Given the description of an element on the screen output the (x, y) to click on. 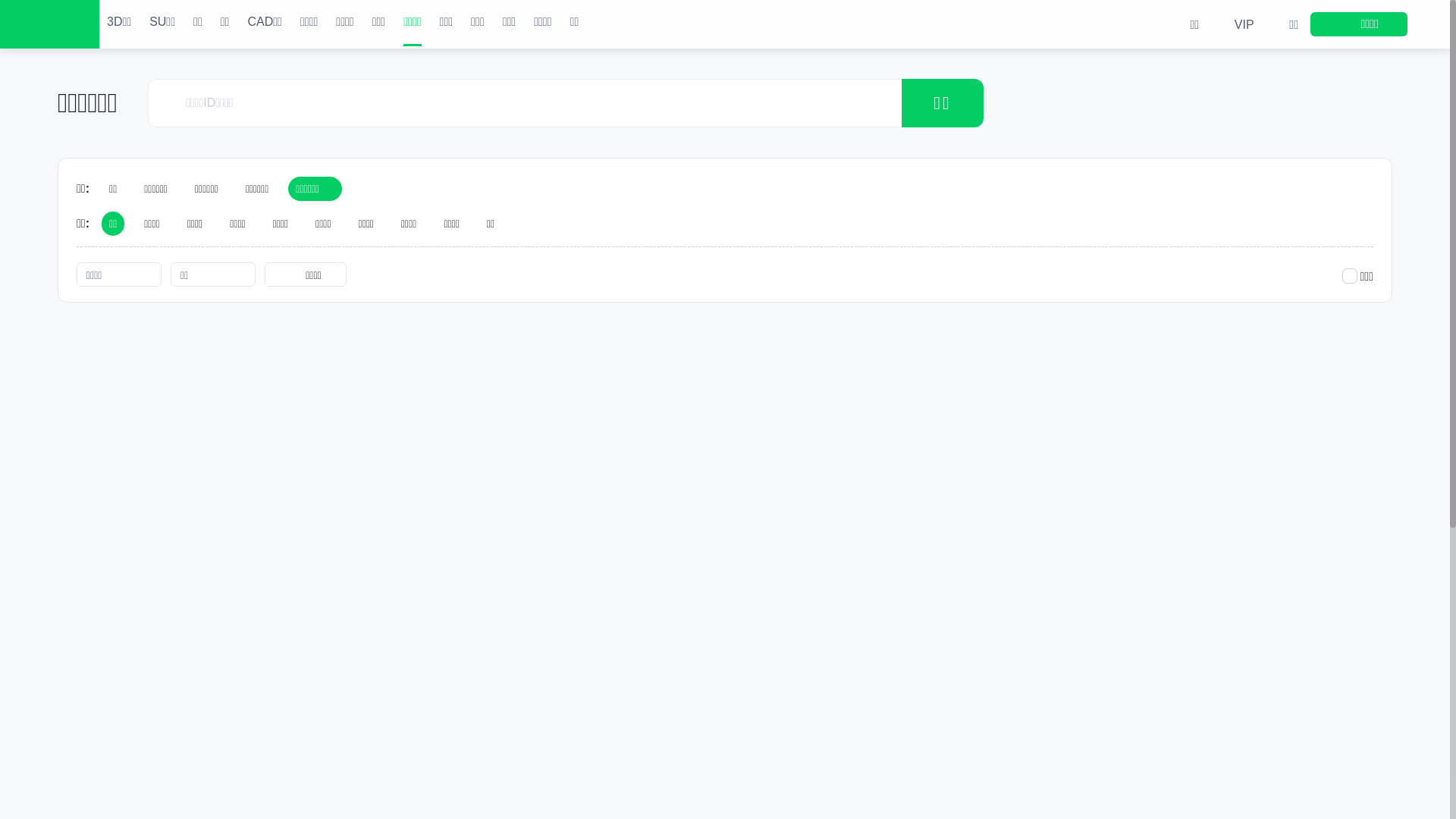
VIP Element type: text (1232, 23)
